Given the description of an element on the screen output the (x, y) to click on. 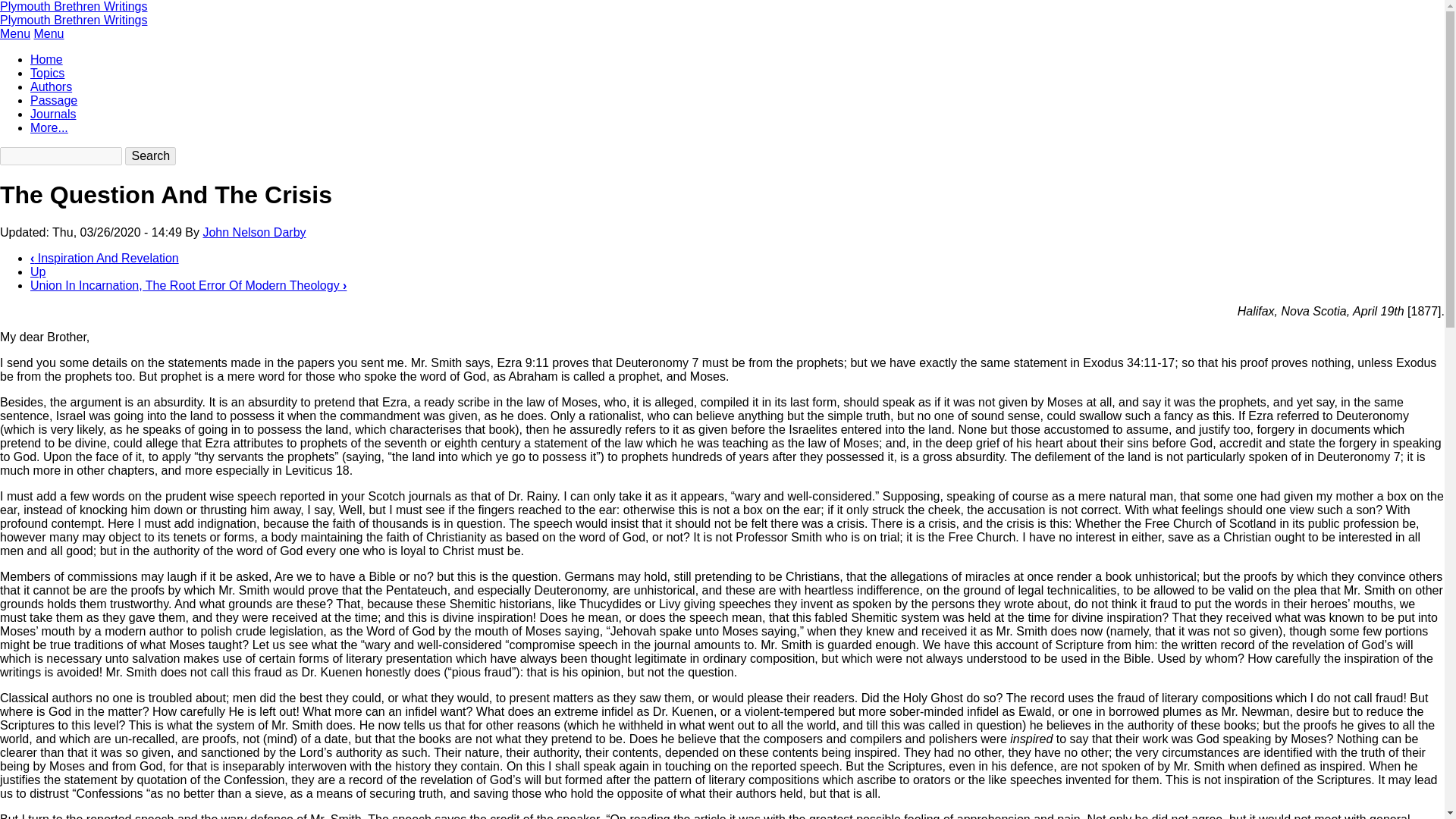
Menu (15, 33)
Search (150, 156)
Topics (47, 72)
Menu (48, 33)
Plymouth Brethren Writings (73, 6)
View user profile. (253, 232)
Authors (50, 86)
More... (49, 127)
Passage (53, 100)
